Given the description of an element on the screen output the (x, y) to click on. 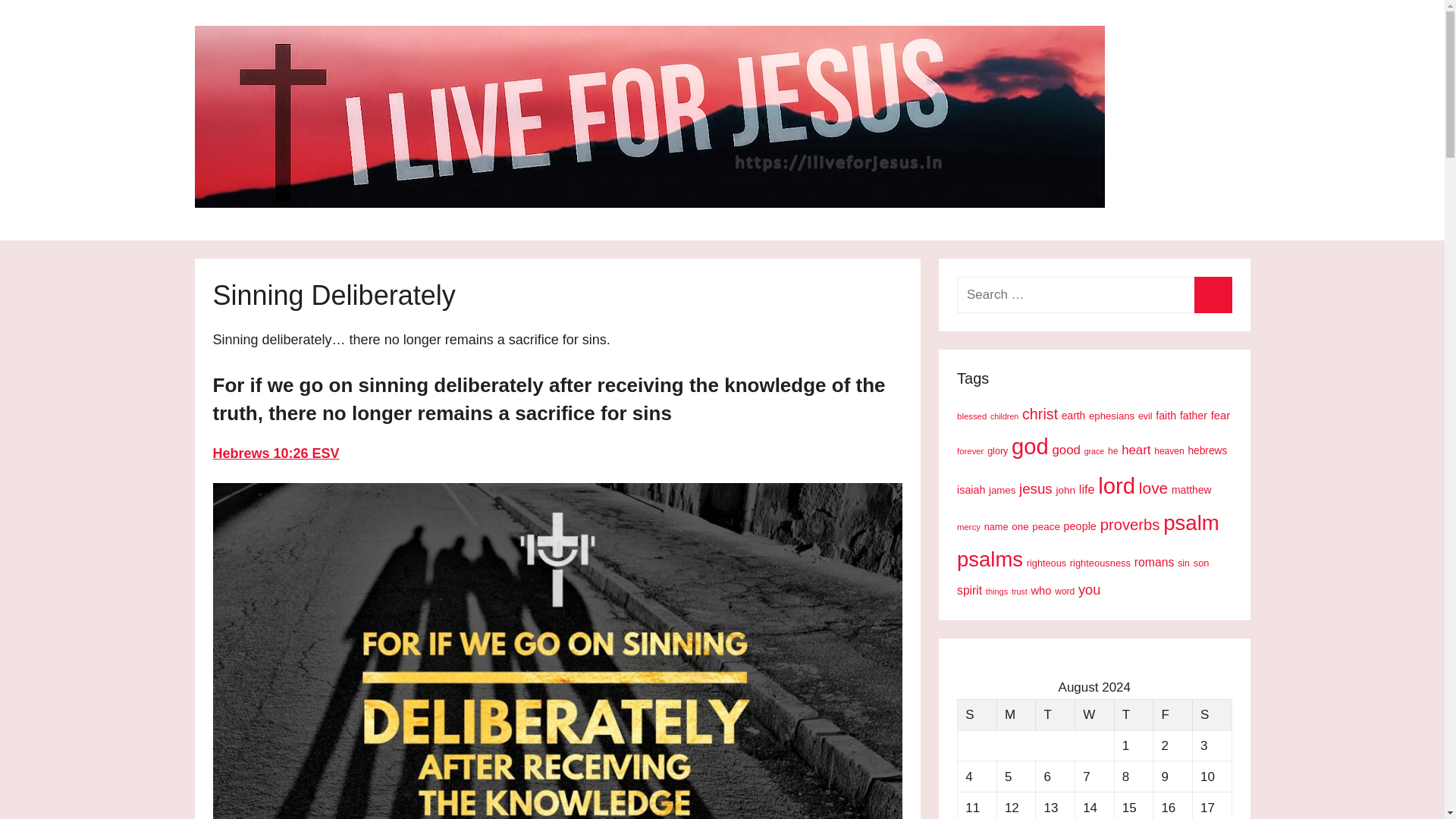
earth (1072, 415)
Sunday (977, 714)
Friday (1172, 714)
Wednesday (1093, 714)
Search (1212, 294)
evil (1145, 416)
blessed (971, 415)
father (1193, 415)
Thursday (1133, 714)
ephesians (1111, 415)
Monday (1015, 714)
Saturday (1211, 714)
Hebrews 10:26 ESV (275, 453)
christ (1040, 413)
Tuesday (1055, 714)
